Given the description of an element on the screen output the (x, y) to click on. 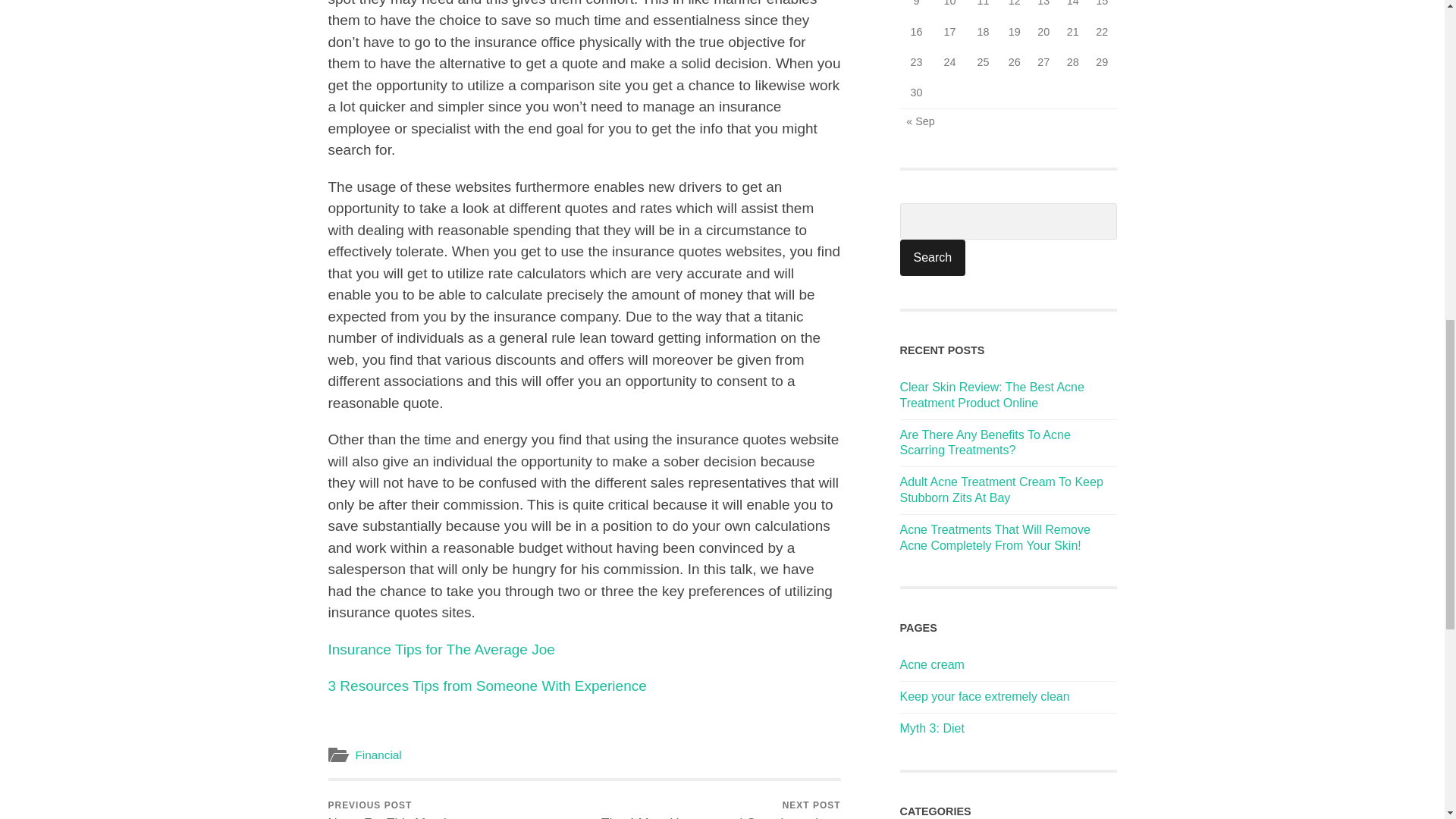
Adult Acne Treatment Cream To Keep Stubborn Zits At Bay (1000, 489)
Clear Skin Review: The Best Acne Treatment Product Online (991, 394)
Acne cream (931, 664)
Keep your face extremely clean (390, 800)
Are There Any Benefits To Acne Scarring Treatments? (983, 696)
Search (984, 442)
Myth 3: Diet (932, 257)
Search (931, 727)
Financial (932, 257)
3 Resources Tips from Someone With Experience (378, 754)
Insurance Tips for The Average Joe (486, 685)
